Given the description of an element on the screen output the (x, y) to click on. 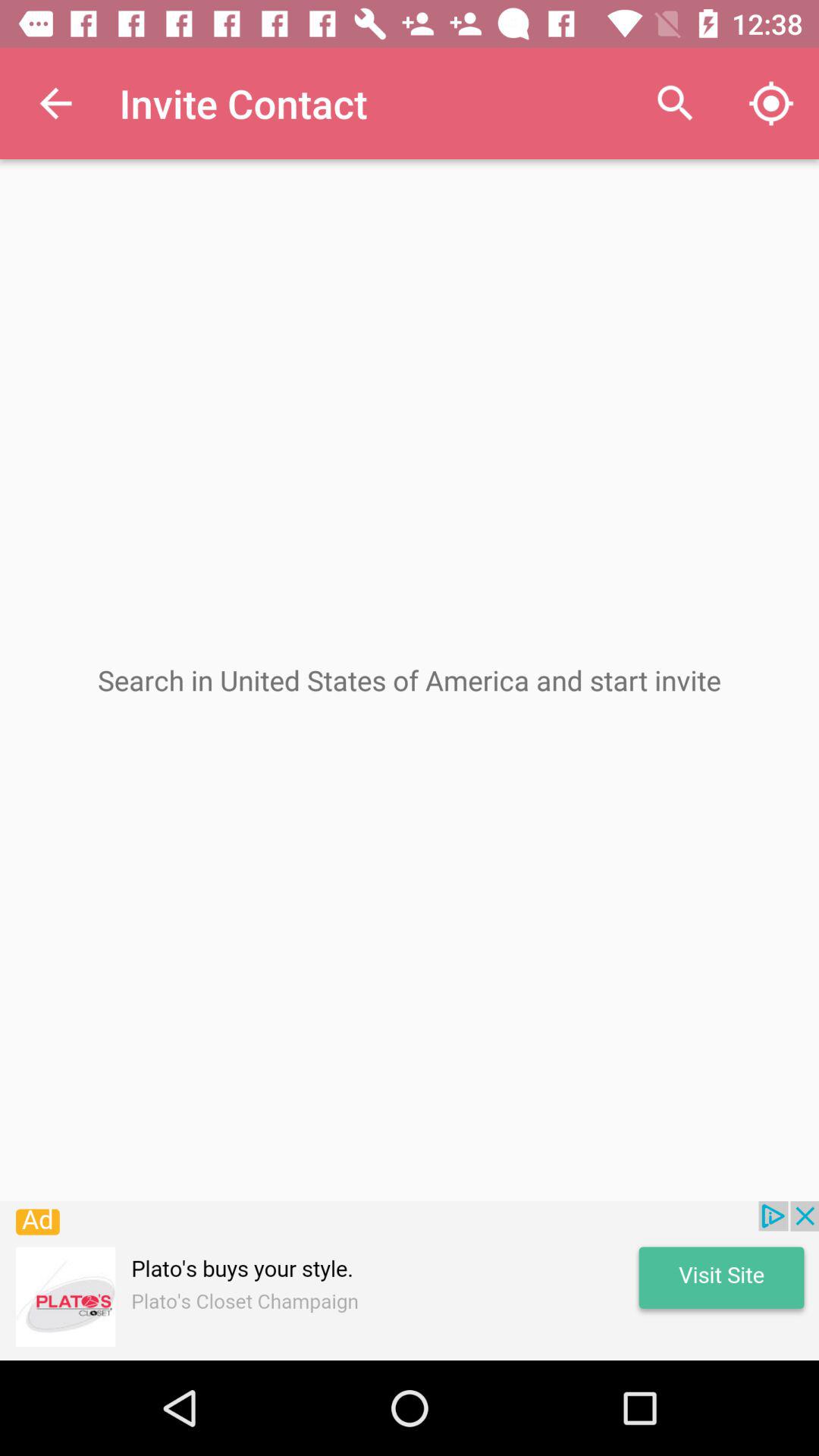
adding advertisement (409, 1280)
